Given the description of an element on the screen output the (x, y) to click on. 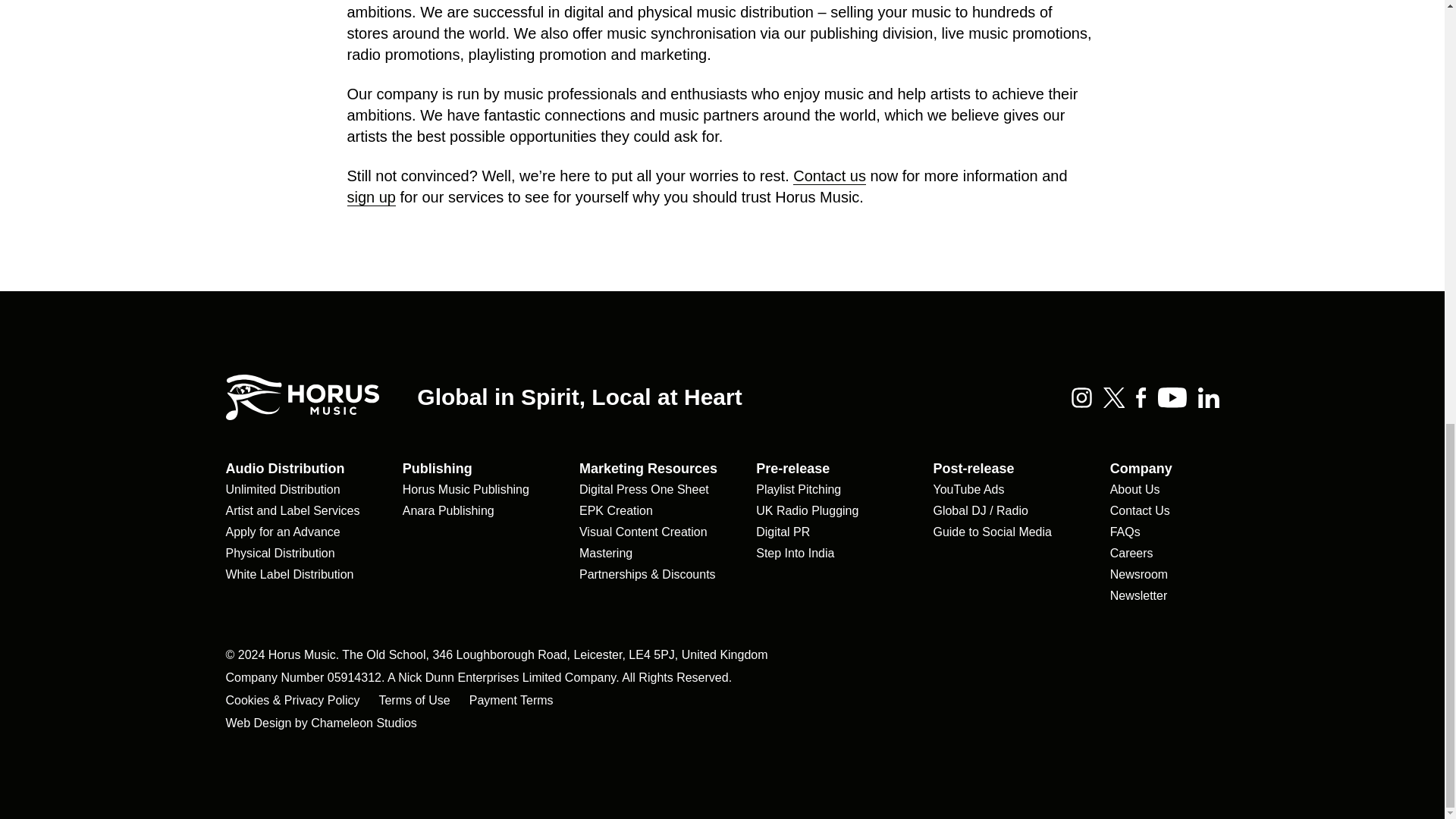
White Label Distribution (289, 574)
Publishing (437, 468)
Contact us (829, 176)
Artist and Label Services (292, 510)
sign up (371, 197)
Physical Distribution (279, 553)
Anara Publishing (449, 510)
Audio Distribution (285, 468)
Unlimited Distribution (282, 489)
Apply for an Advance (282, 531)
